Given the description of an element on the screen output the (x, y) to click on. 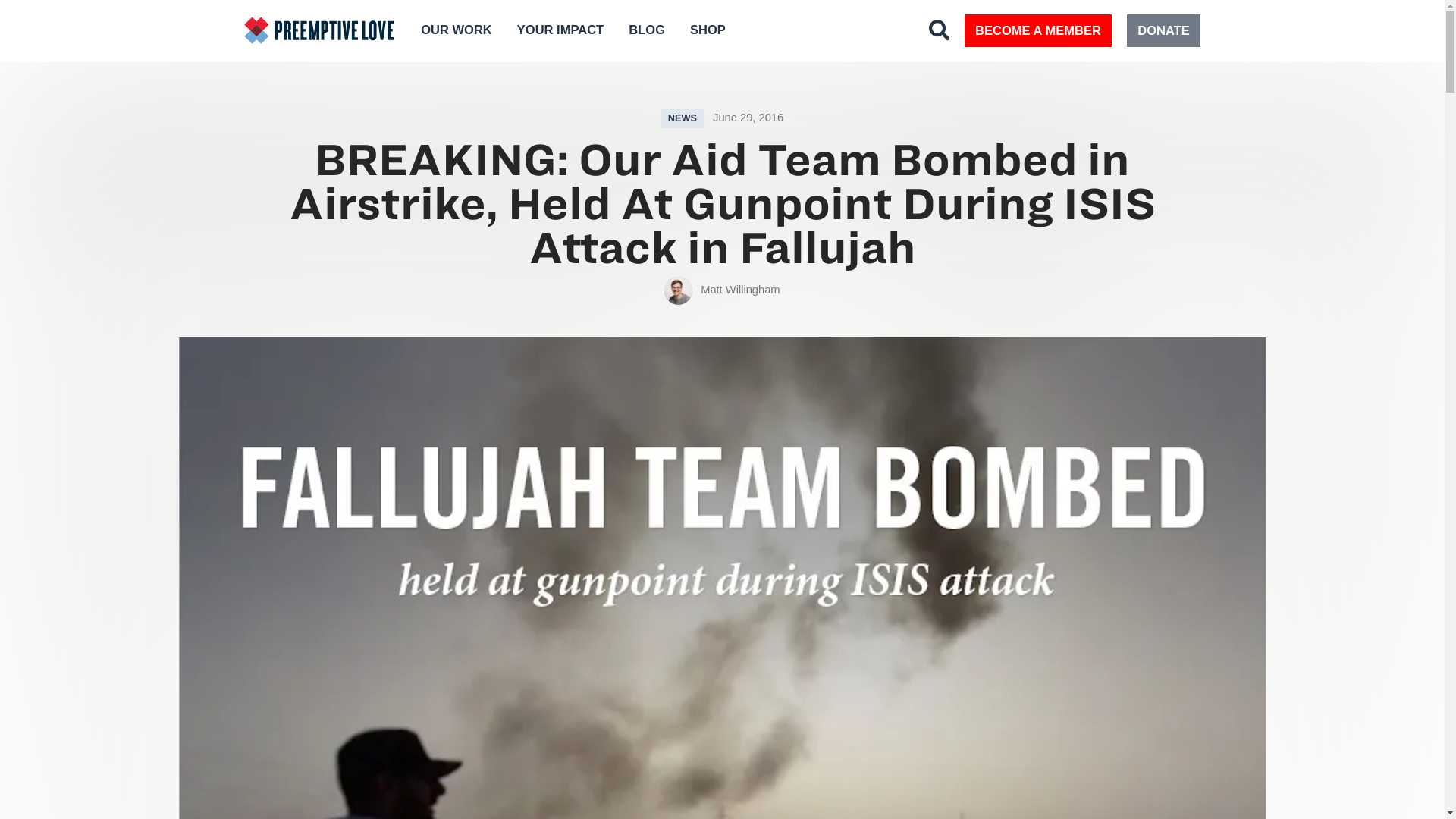
BLOG (646, 30)
YOUR IMPACT (559, 30)
OUR WORK (457, 30)
BECOME A MEMBER (1037, 30)
SHOP (708, 30)
DONATE (1162, 30)
NEWS (682, 117)
